Given the description of an element on the screen output the (x, y) to click on. 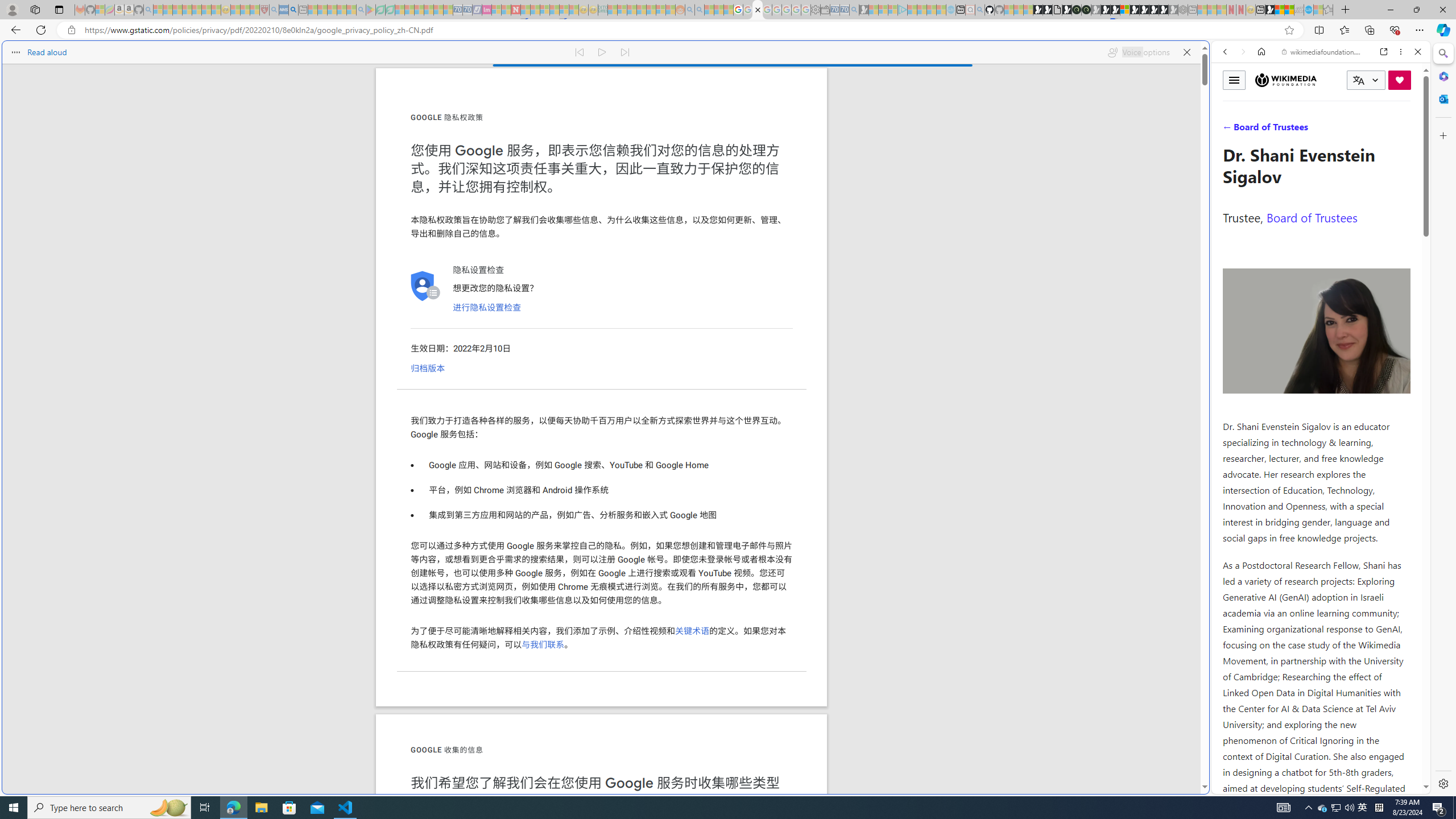
wikimediafoundation.org (1323, 51)
Continue to read aloud (Ctrl+Shift+U) (602, 52)
